Given the description of an element on the screen output the (x, y) to click on. 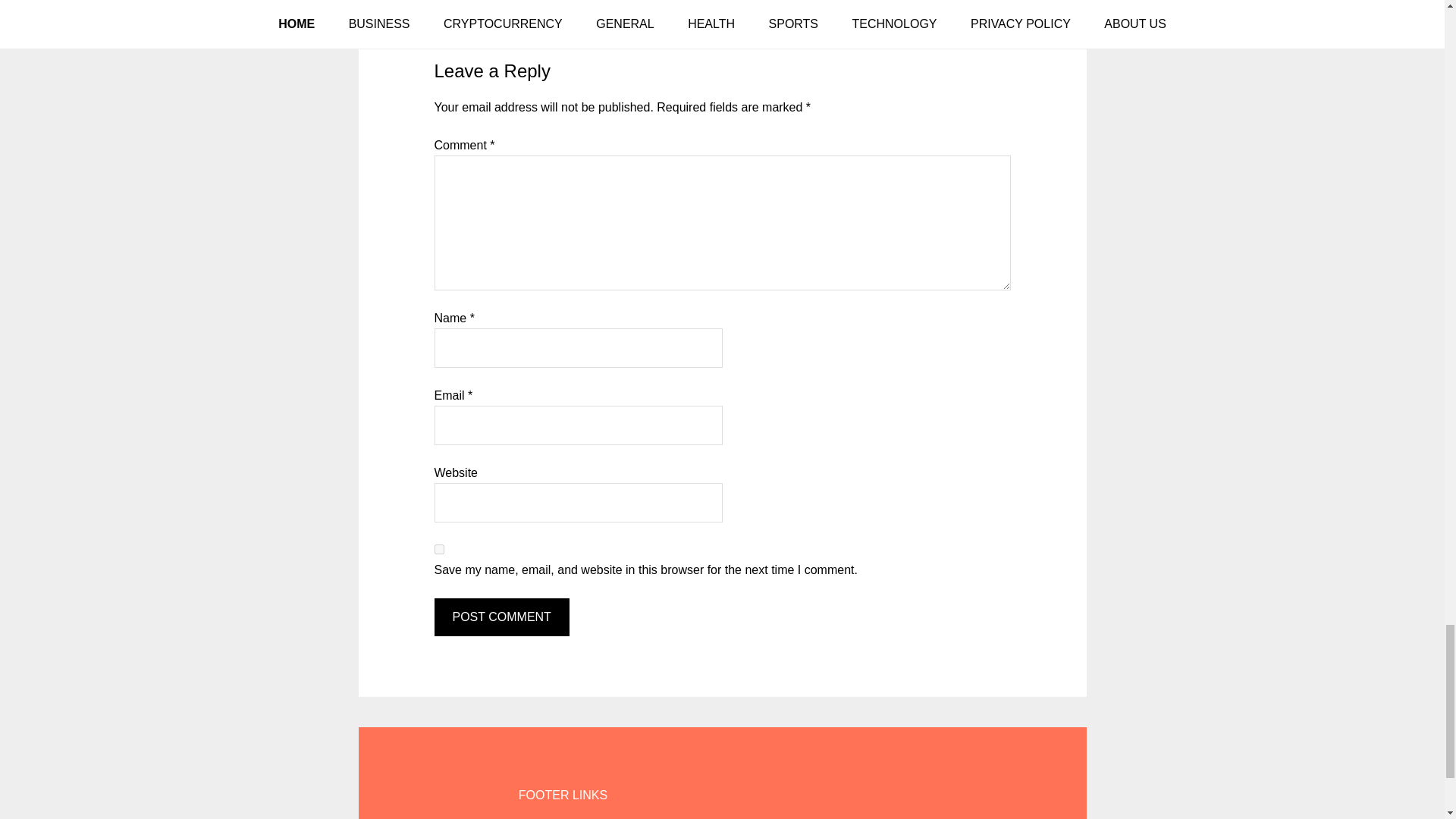
yes (438, 549)
Post Comment (501, 617)
Post Comment (501, 617)
